Given the description of an element on the screen output the (x, y) to click on. 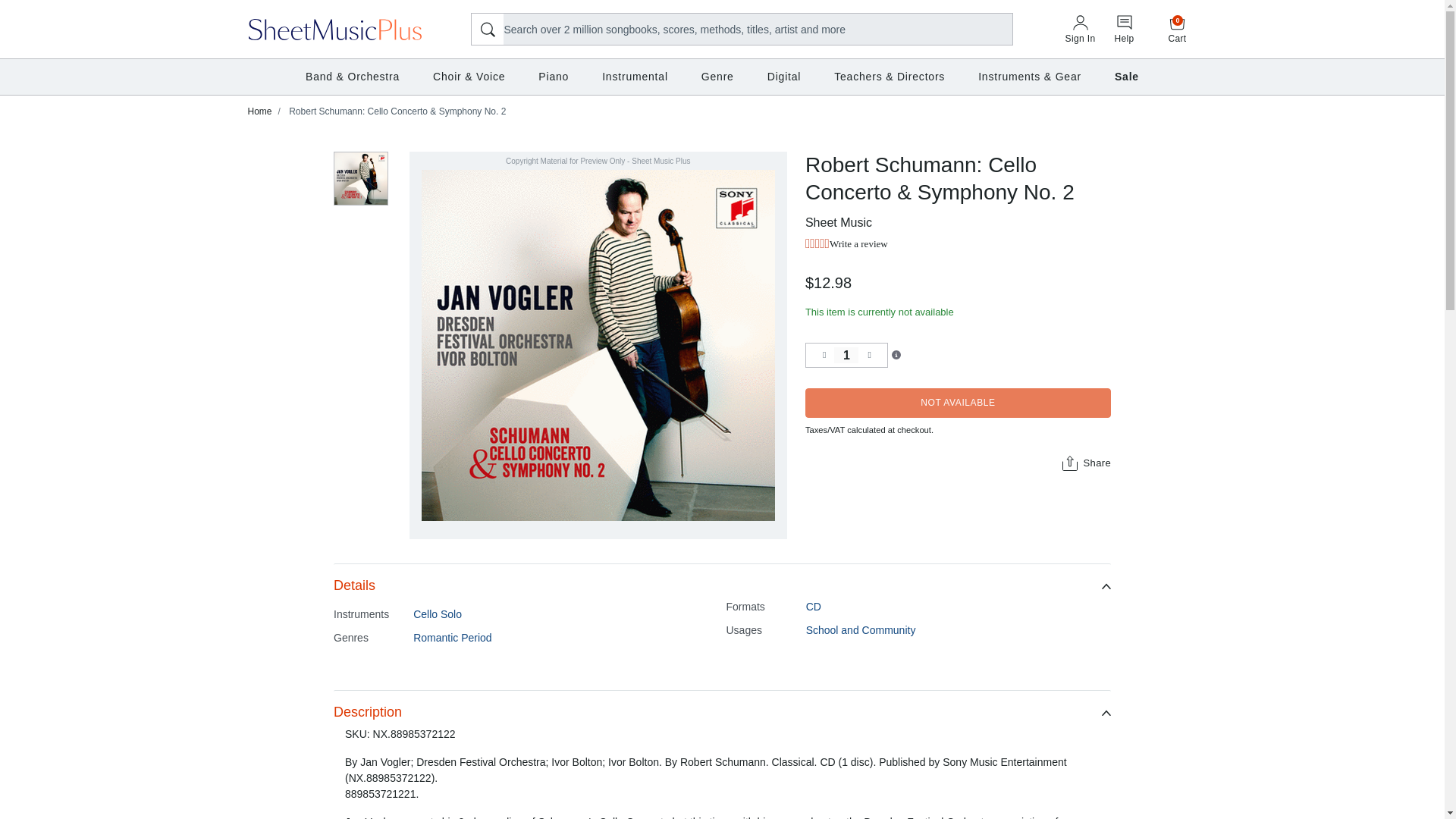
1 (846, 355)
Sign In (1080, 29)
Cart 0 Items (1177, 28)
Sheet Music Plus Home (335, 28)
Help (1123, 29)
